Given the description of an element on the screen output the (x, y) to click on. 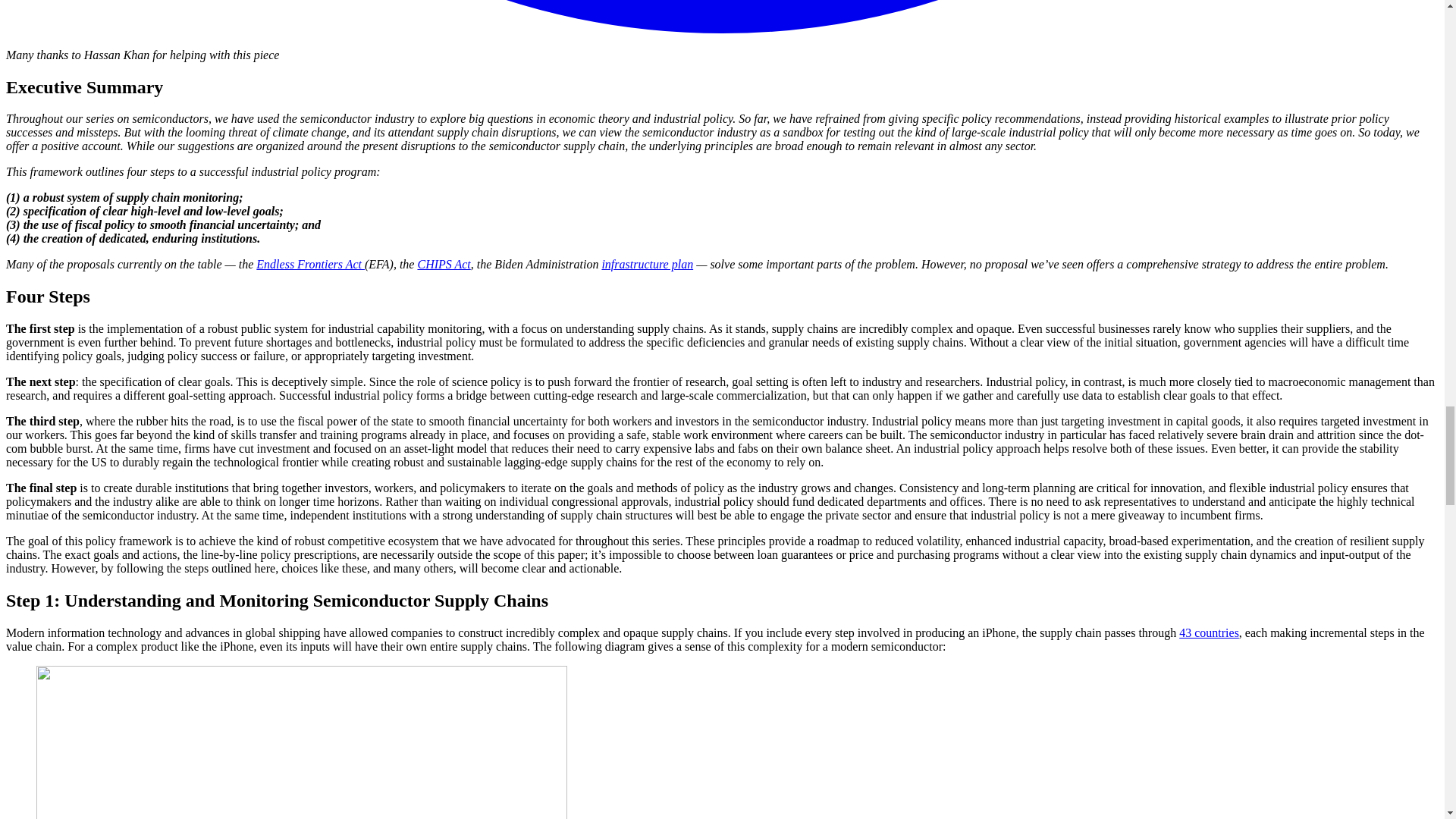
43 countries (1209, 632)
infrastructure plan (647, 264)
Endless Frontiers Act (310, 264)
CHIPS Act (443, 264)
